Given the description of an element on the screen output the (x, y) to click on. 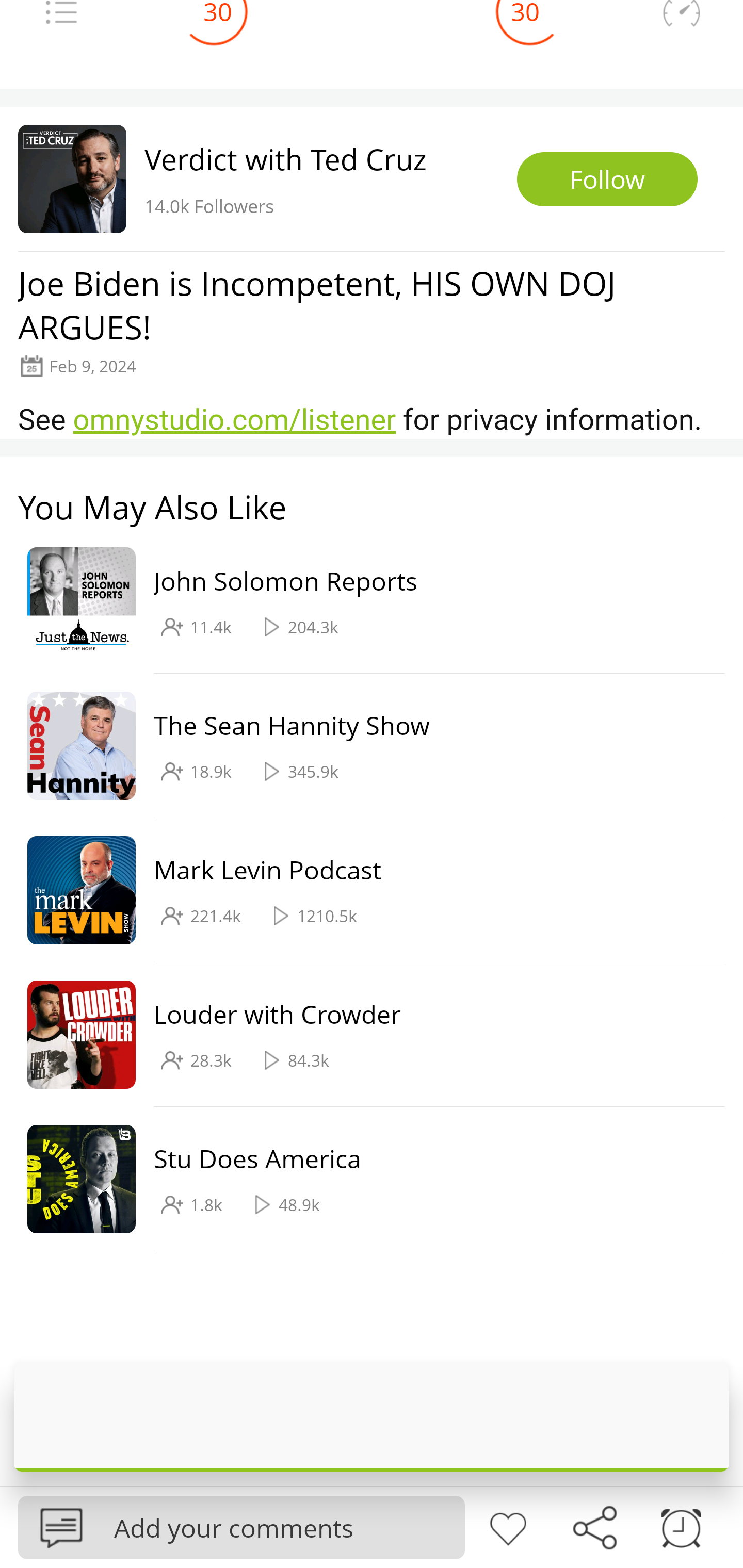
Menu (60, 27)
30 Seek Backward (217, 30)
30 Seek Forward (525, 30)
Speedometer (681, 27)
Verdict with Ted Cruz 14.0k Followers Follow (371, 178)
Follow (607, 179)
omnystudio.com/listener (234, 419)
John Solomon Reports 11.4k 204.3k (362, 601)
The Sean Hannity Show 18.9k 345.9k (362, 746)
Mark Levin Podcast 221.4k 1210.5k (362, 890)
Louder with Crowder 28.3k 84.3k (362, 1034)
Stu Does America 1.8k 48.9k (362, 1179)
Like (508, 1526)
Share (594, 1526)
Sleep timer (681, 1526)
Podbean Add your comments (241, 1526)
